Given the description of an element on the screen output the (x, y) to click on. 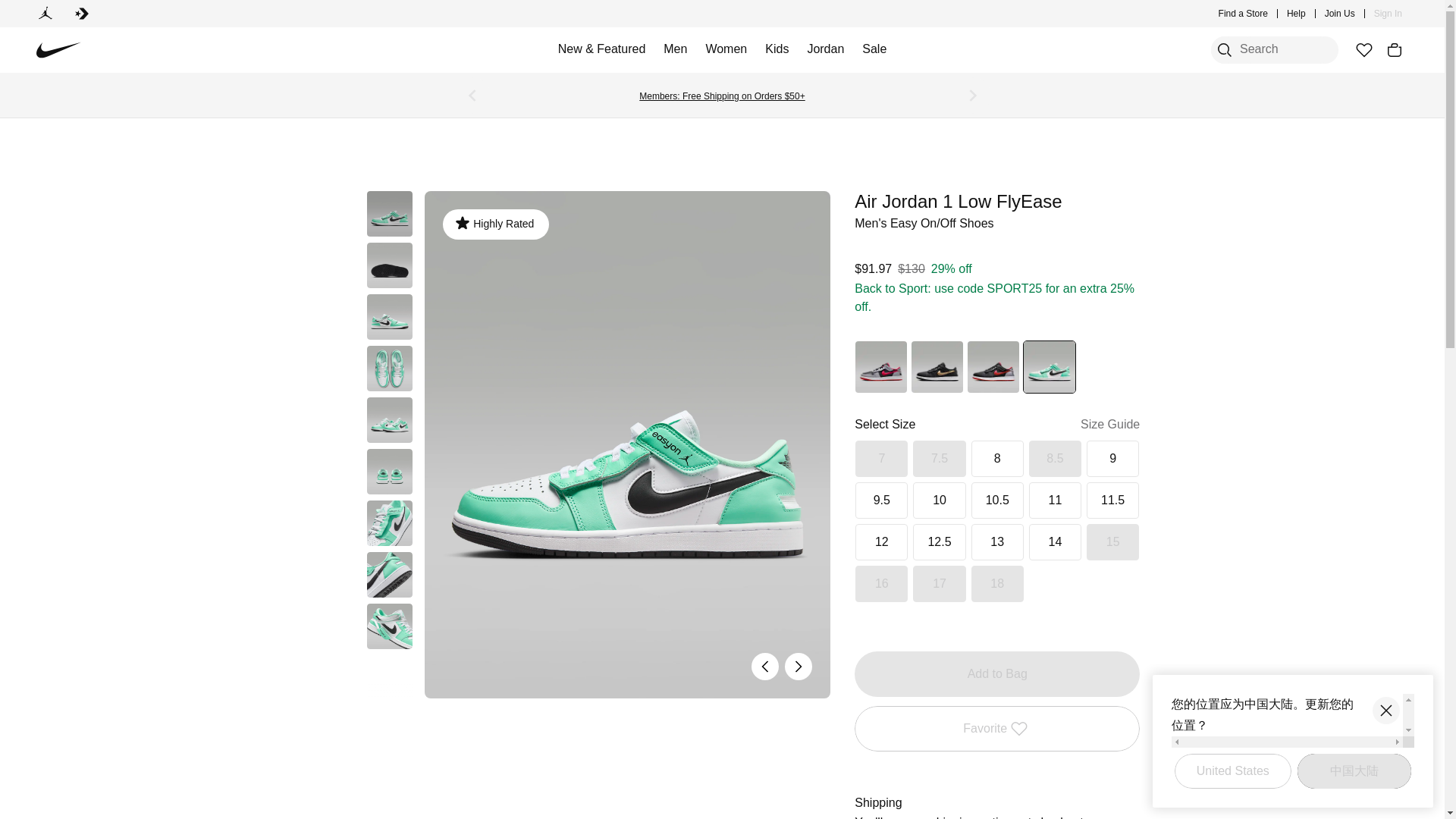
Sign In (1388, 13)
Find a Store (1243, 13)
Bag Items: 0 (1393, 49)
